Given the description of an element on the screen output the (x, y) to click on. 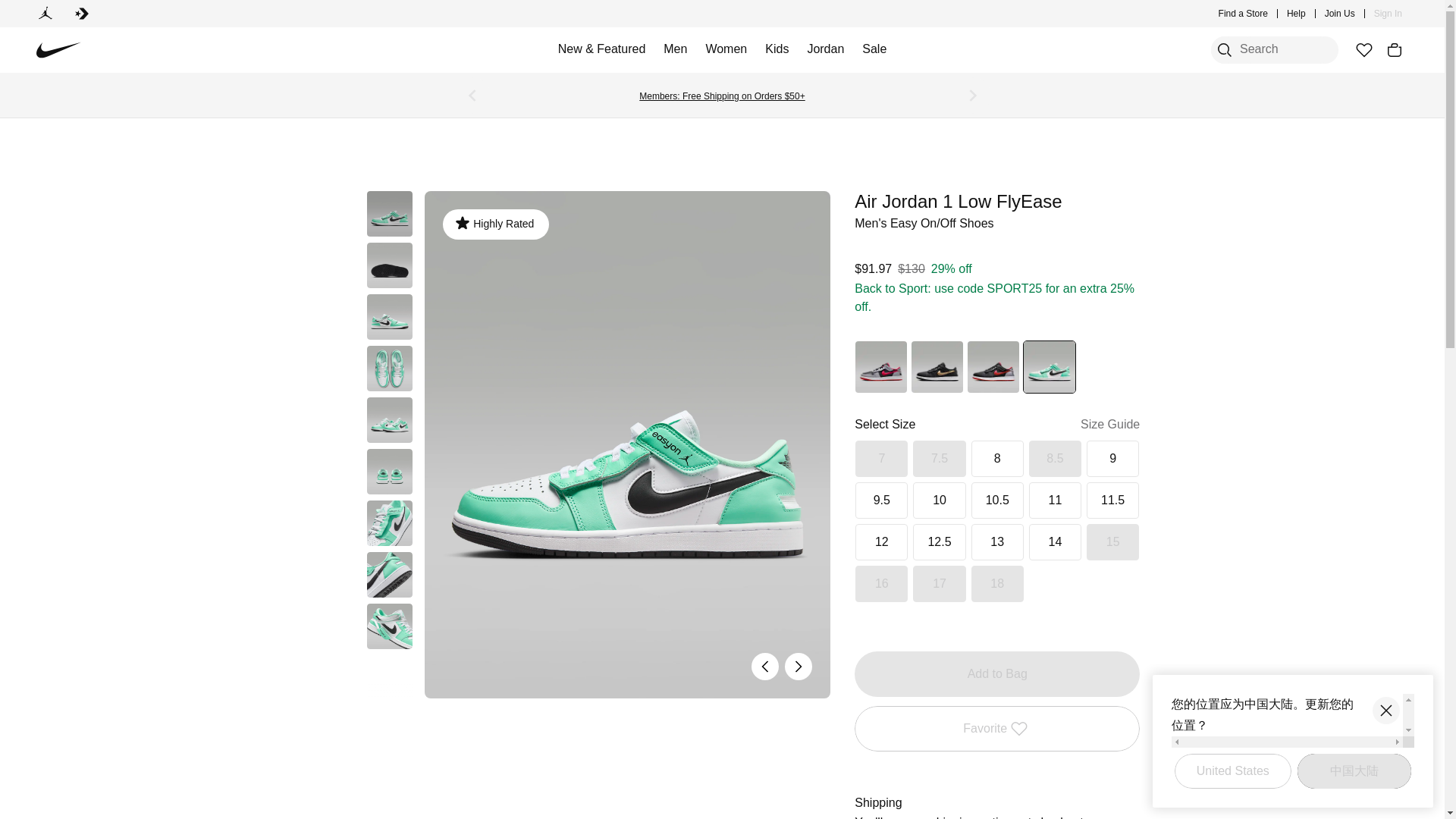
Sign In (1388, 13)
Find a Store (1243, 13)
Bag Items: 0 (1393, 49)
